Given the description of an element on the screen output the (x, y) to click on. 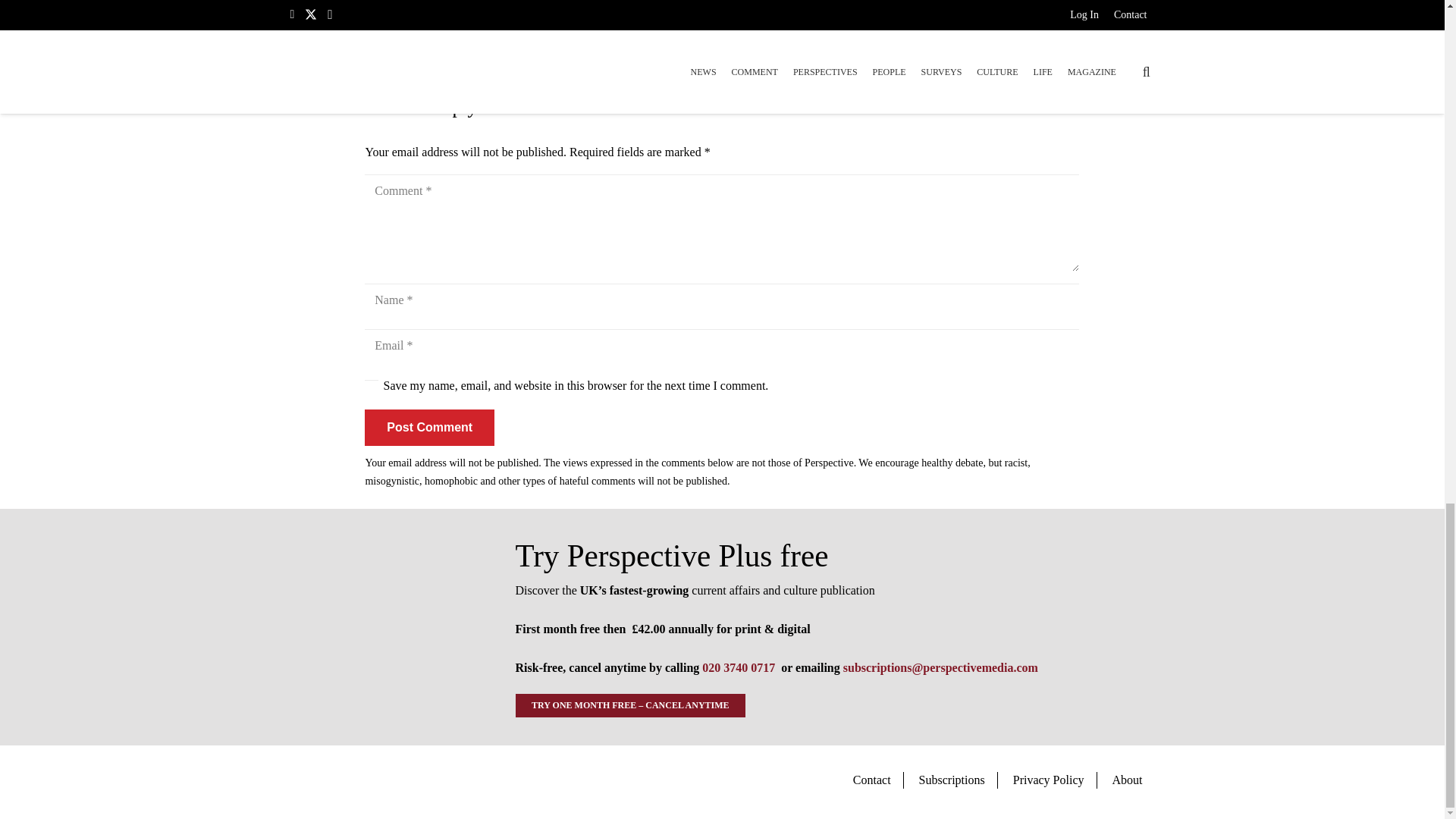
Contact (872, 779)
Post Comment (430, 427)
Subscriptions (951, 779)
020 3740 0717 (737, 667)
1 (371, 386)
Trial Offer (383, 627)
News (378, 57)
Claim Offer (722, 13)
